Given the description of an element on the screen output the (x, y) to click on. 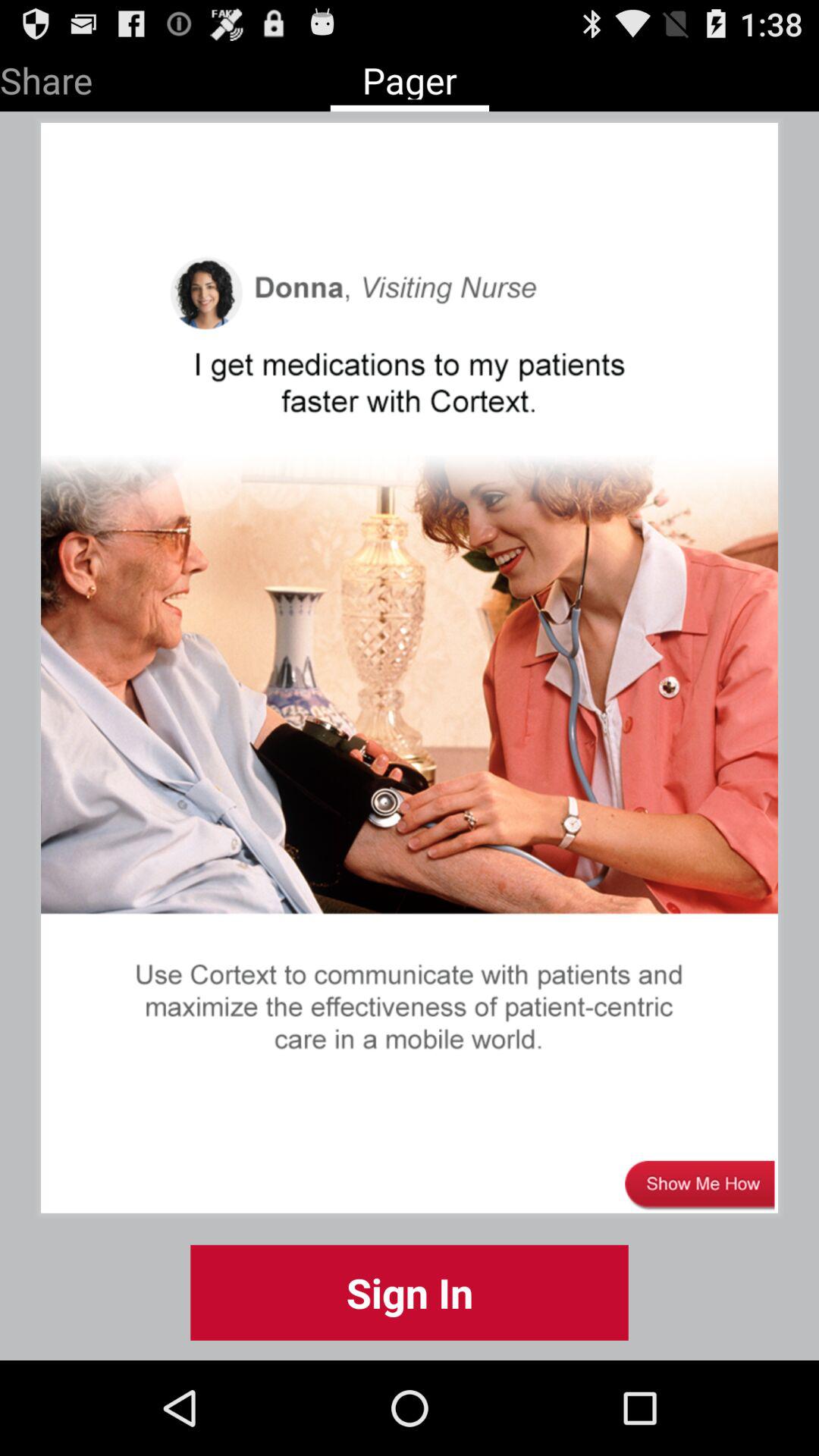
select the share item (46, 77)
